Given the description of an element on the screen output the (x, y) to click on. 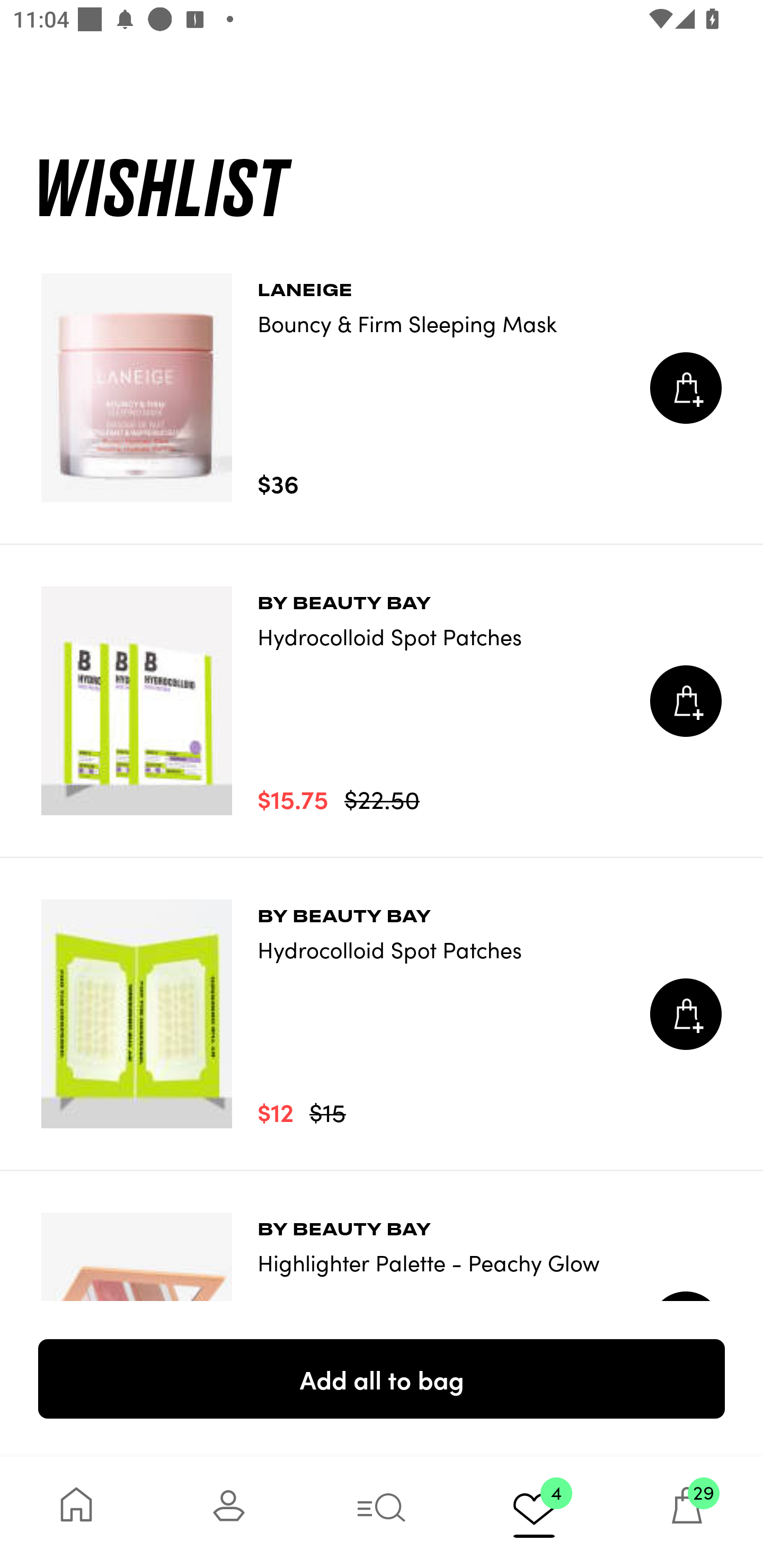
LANEIGE Bouncy & Firm Sleeping Mask $36 (381, 388)
BY BEAUTY BAY Hydrocolloid Spot Patches $12 $15 (381, 1013)
Add all to bag (381, 1379)
4 (533, 1512)
29 (686, 1512)
